Given the description of an element on the screen output the (x, y) to click on. 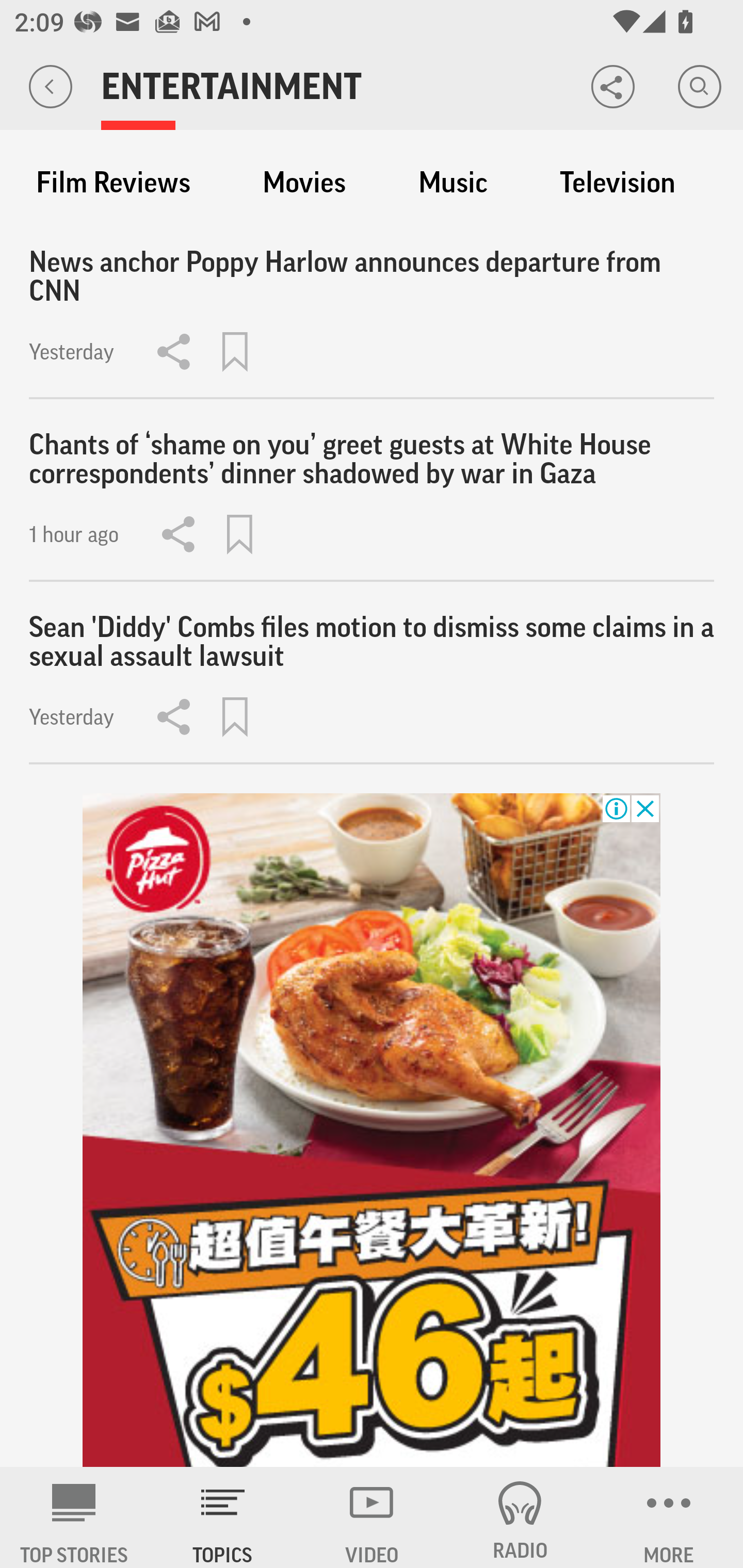
Film Reviews (112, 182)
Movies (304, 182)
Music (452, 182)
Television (617, 182)
Advertisement (371, 1130)
AP News TOP STORIES (74, 1517)
TOPICS (222, 1517)
VIDEO (371, 1517)
RADIO (519, 1517)
MORE (668, 1517)
